Given the description of an element on the screen output the (x, y) to click on. 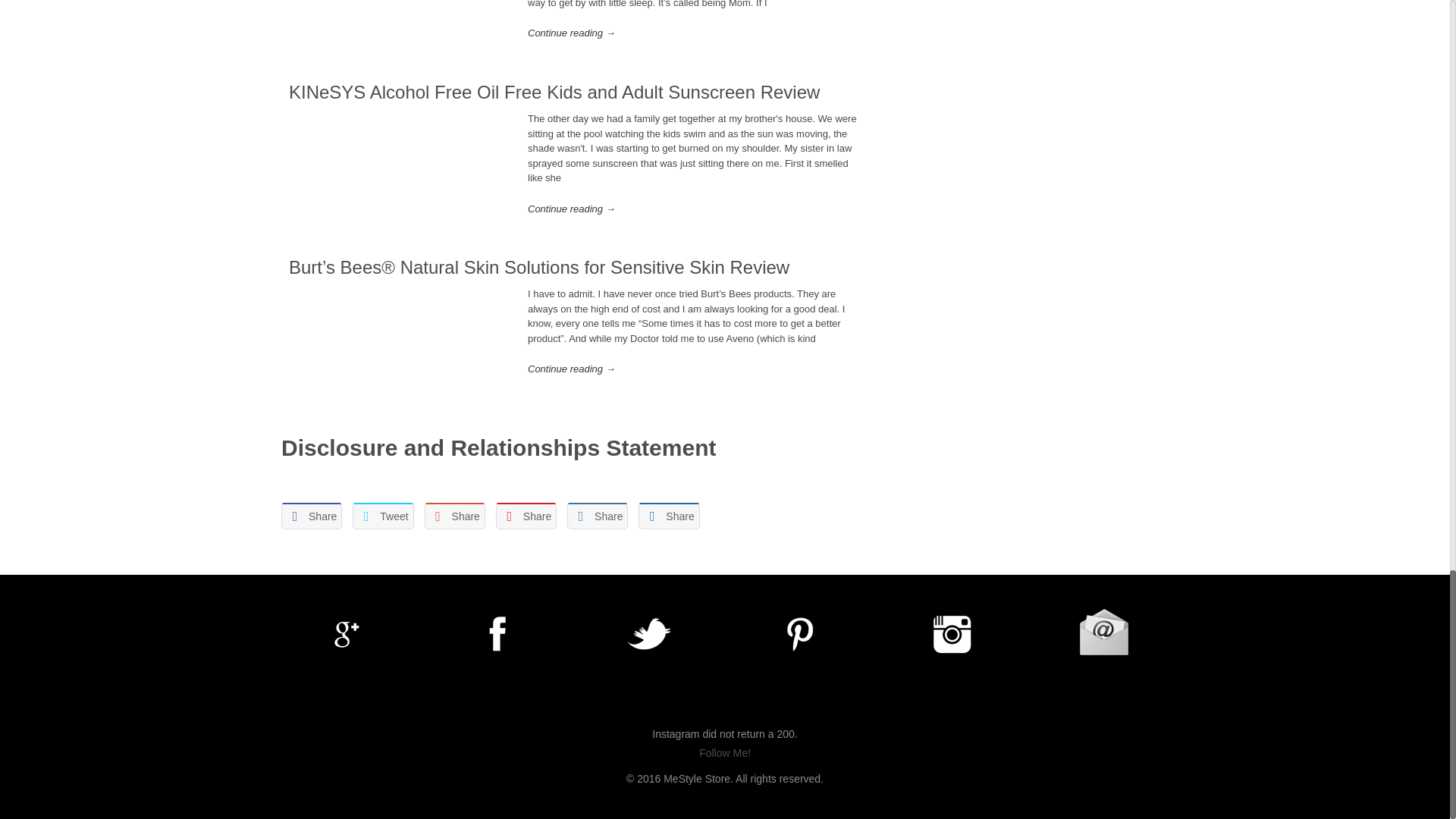
Disclosure and Relationships Statement (498, 447)
Share on Twitter (382, 515)
Share on Linkedin (597, 515)
Share on Google Plus (454, 515)
Share on Digg (668, 515)
Share on Pinterest (526, 515)
Share on Facebook (311, 515)
